Given the description of an element on the screen output the (x, y) to click on. 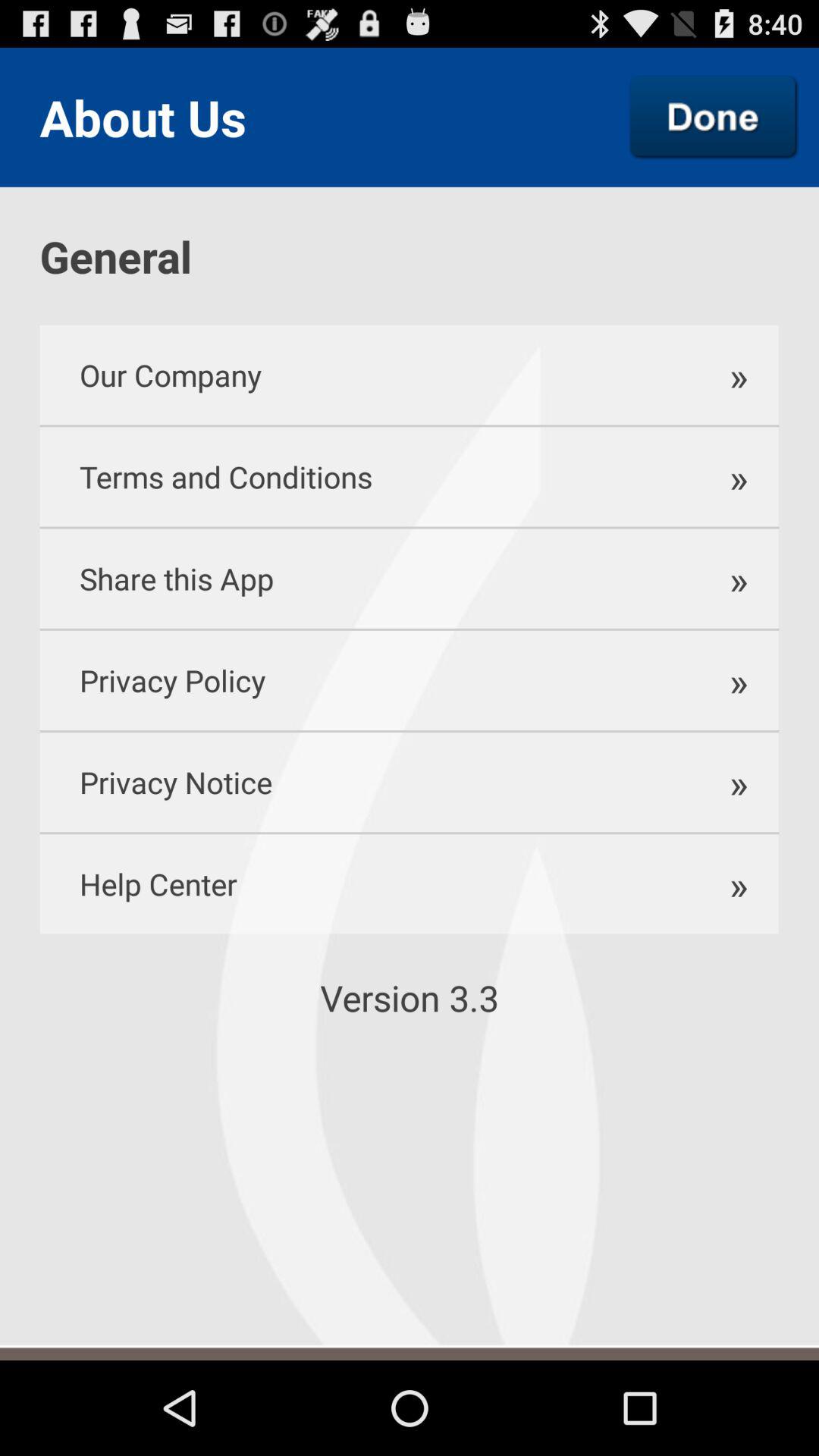
turn on the button to the right of terms and conditions (736, 476)
